Given the description of an element on the screen output the (x, y) to click on. 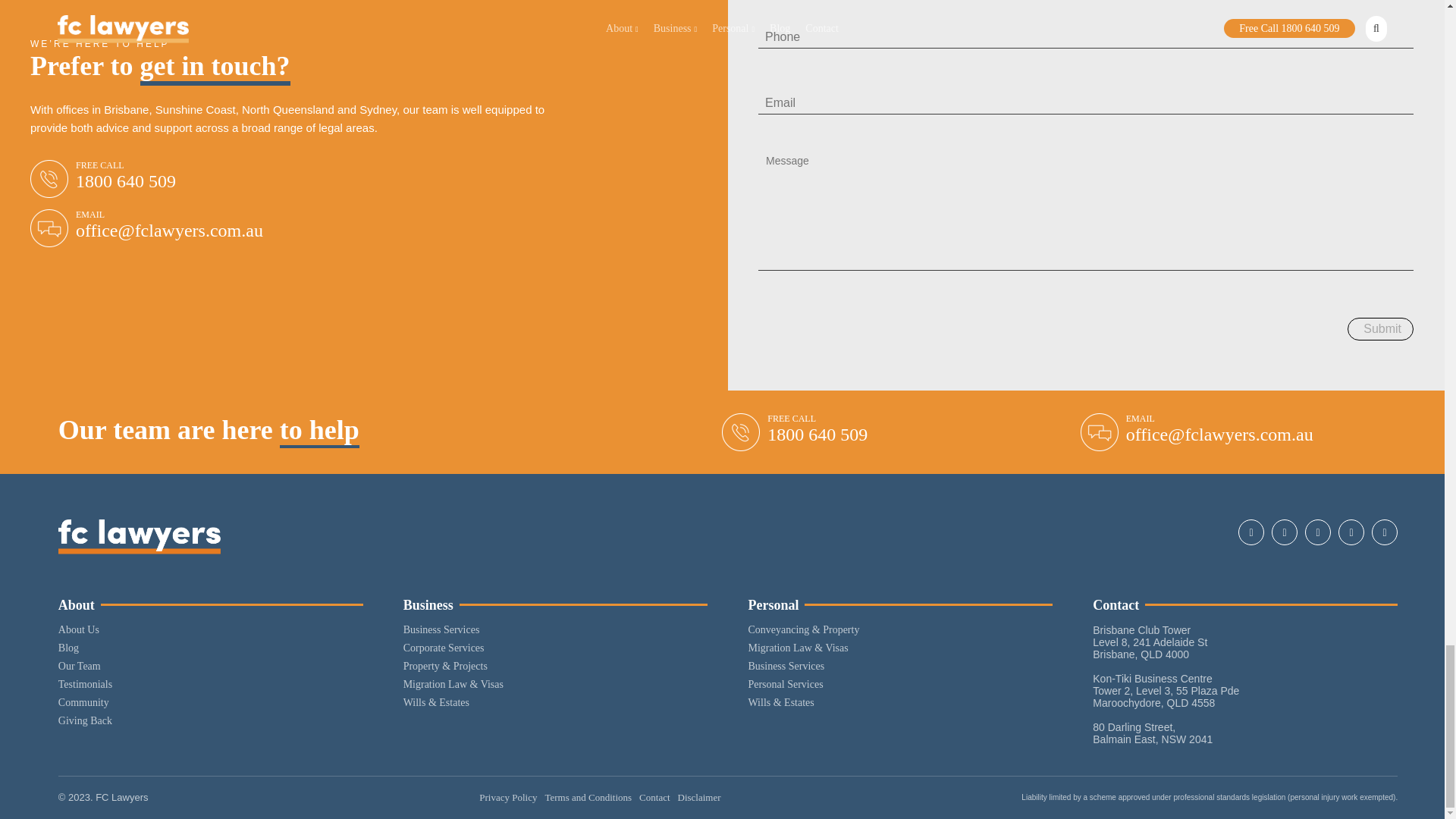
Submit (1380, 328)
Submit (1380, 328)
1800 640 509 (817, 435)
1800 640 509 (125, 181)
